Given the description of an element on the screen output the (x, y) to click on. 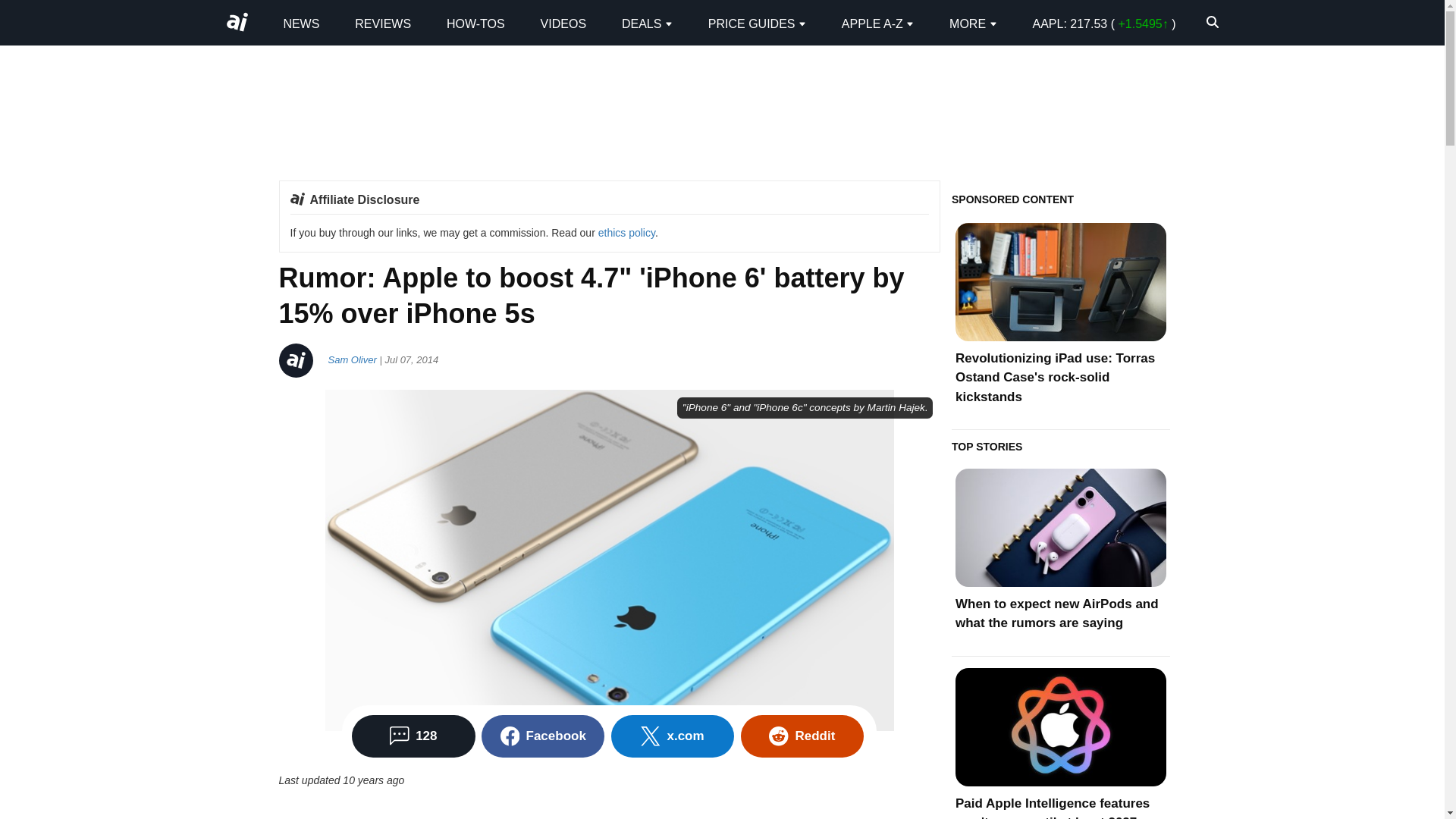
NEWS (300, 23)
How-Tos (475, 23)
HOW-TOS (475, 23)
Videos (563, 23)
REVIEWS (382, 23)
News (300, 23)
Reviews (382, 23)
VIDEOS (563, 23)
